Given the description of an element on the screen output the (x, y) to click on. 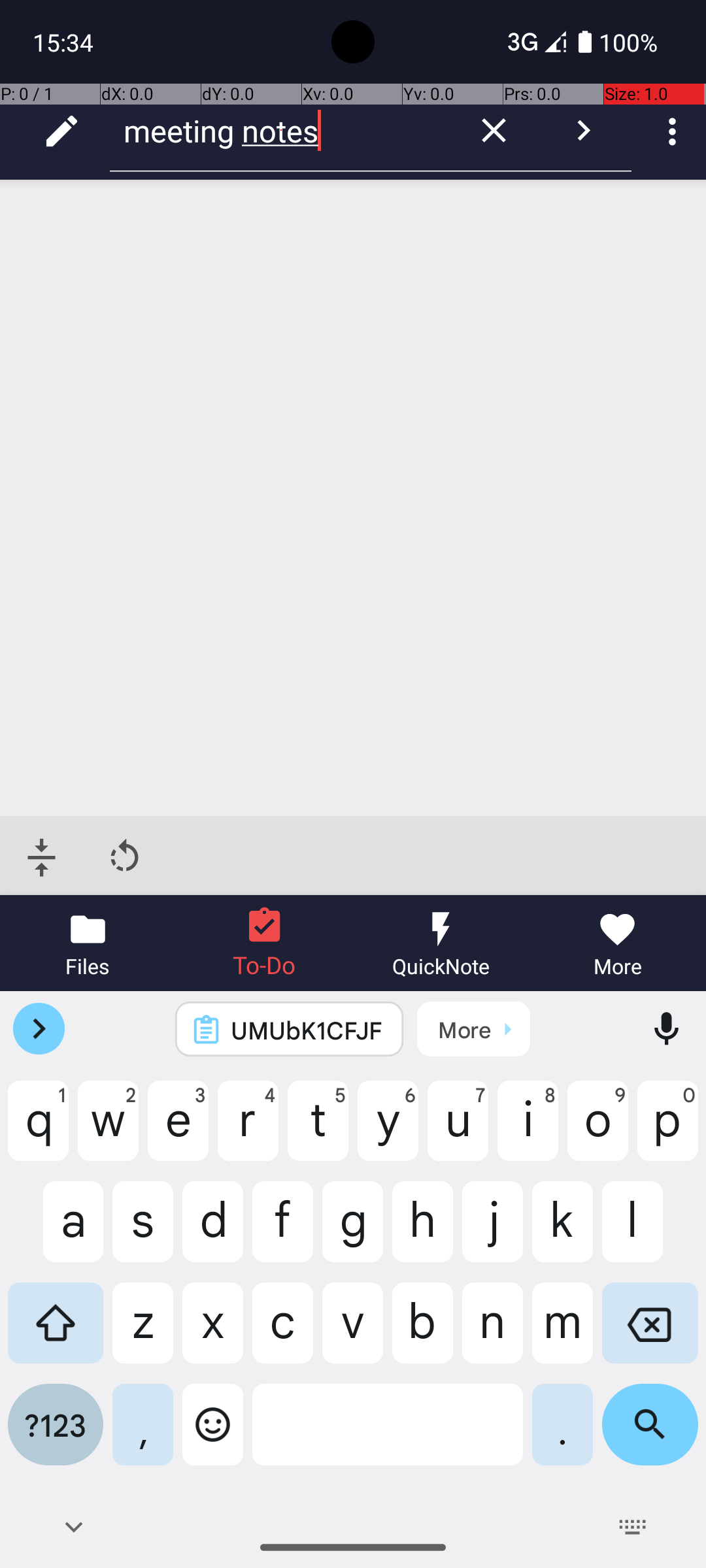
Edit mode Element type: android.widget.TextView (61, 131)
meeting notes Element type: android.widget.AutoCompleteTextView (280, 130)
Clear query Element type: android.widget.ImageView (493, 130)
Submit query Element type: android.widget.ImageView (583, 130)
Jump to bottom Element type: android.widget.ImageView (41, 857)
Rotate Element type: android.widget.ImageView (124, 857)
UMUbK1CFJF Element type: android.widget.TextView (306, 1029)
